Given the description of an element on the screen output the (x, y) to click on. 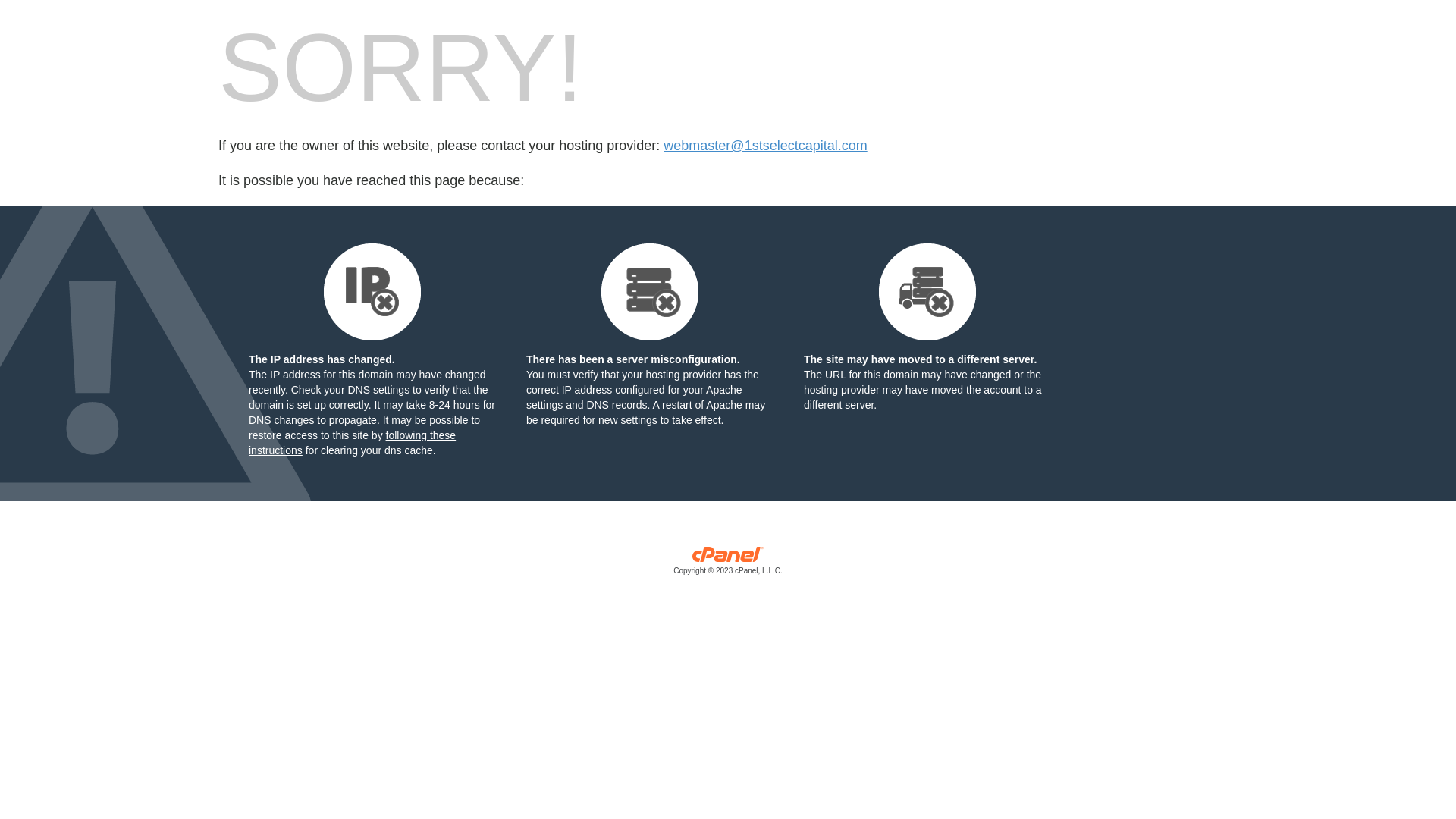
webmaster@1stselectcapital.com Element type: text (764, 145)
following these instructions Element type: text (351, 442)
